Given the description of an element on the screen output the (x, y) to click on. 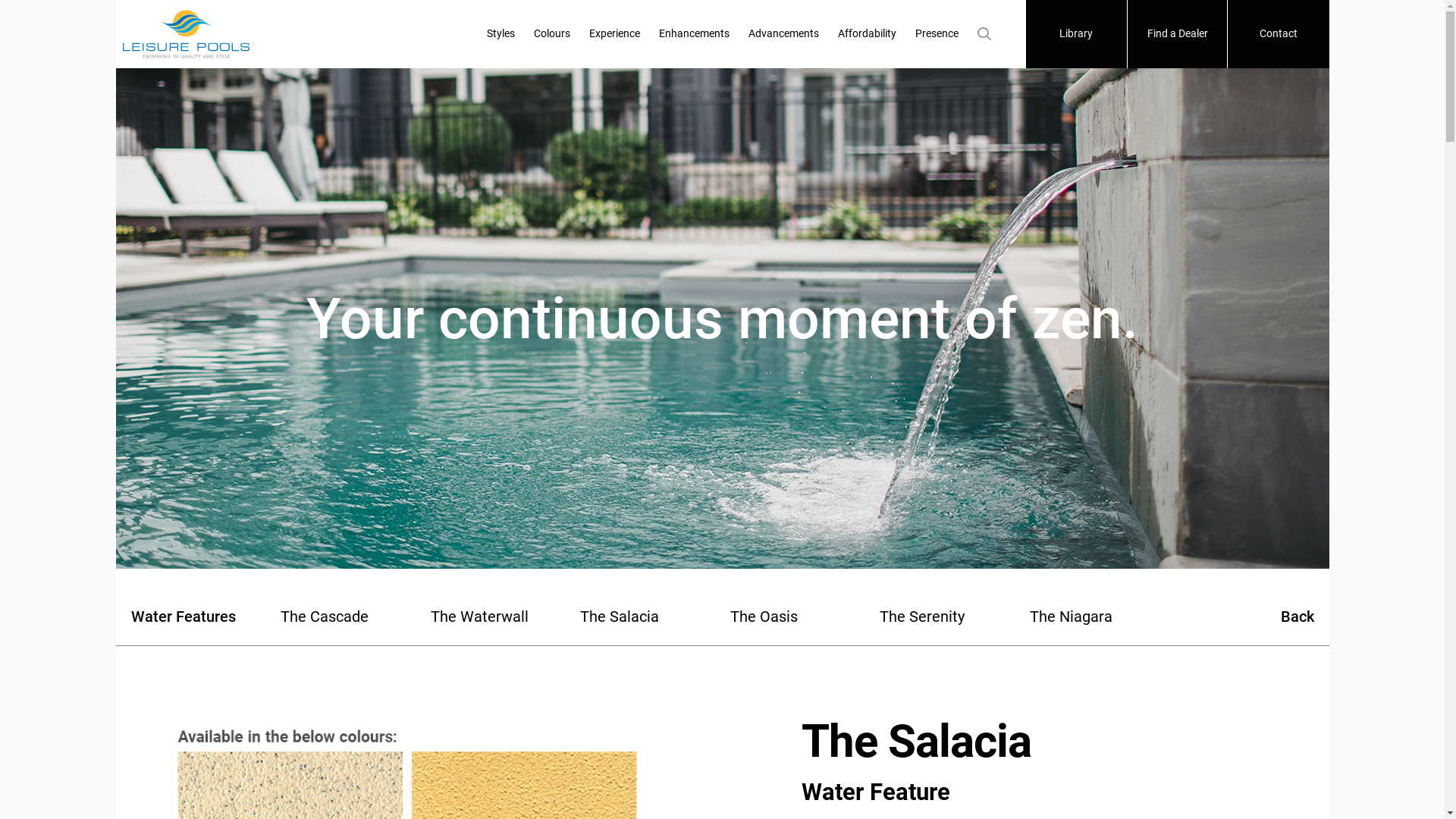
Back Element type: text (1246, 616)
The Salacia Element type: text (647, 616)
The Cascade Element type: text (347, 616)
Experience Element type: text (614, 34)
Find a Dealer Element type: text (1176, 33)
Colours Element type: text (551, 34)
Advancements Element type: text (783, 34)
Presence Element type: text (936, 34)
The Niagara Element type: text (1096, 616)
Enhancements Element type: text (693, 34)
Affordability Element type: text (866, 34)
The Serenity Element type: text (946, 616)
The Oasis Element type: text (796, 616)
Styles Element type: text (500, 34)
The Waterwall Element type: text (497, 616)
